Given the description of an element on the screen output the (x, y) to click on. 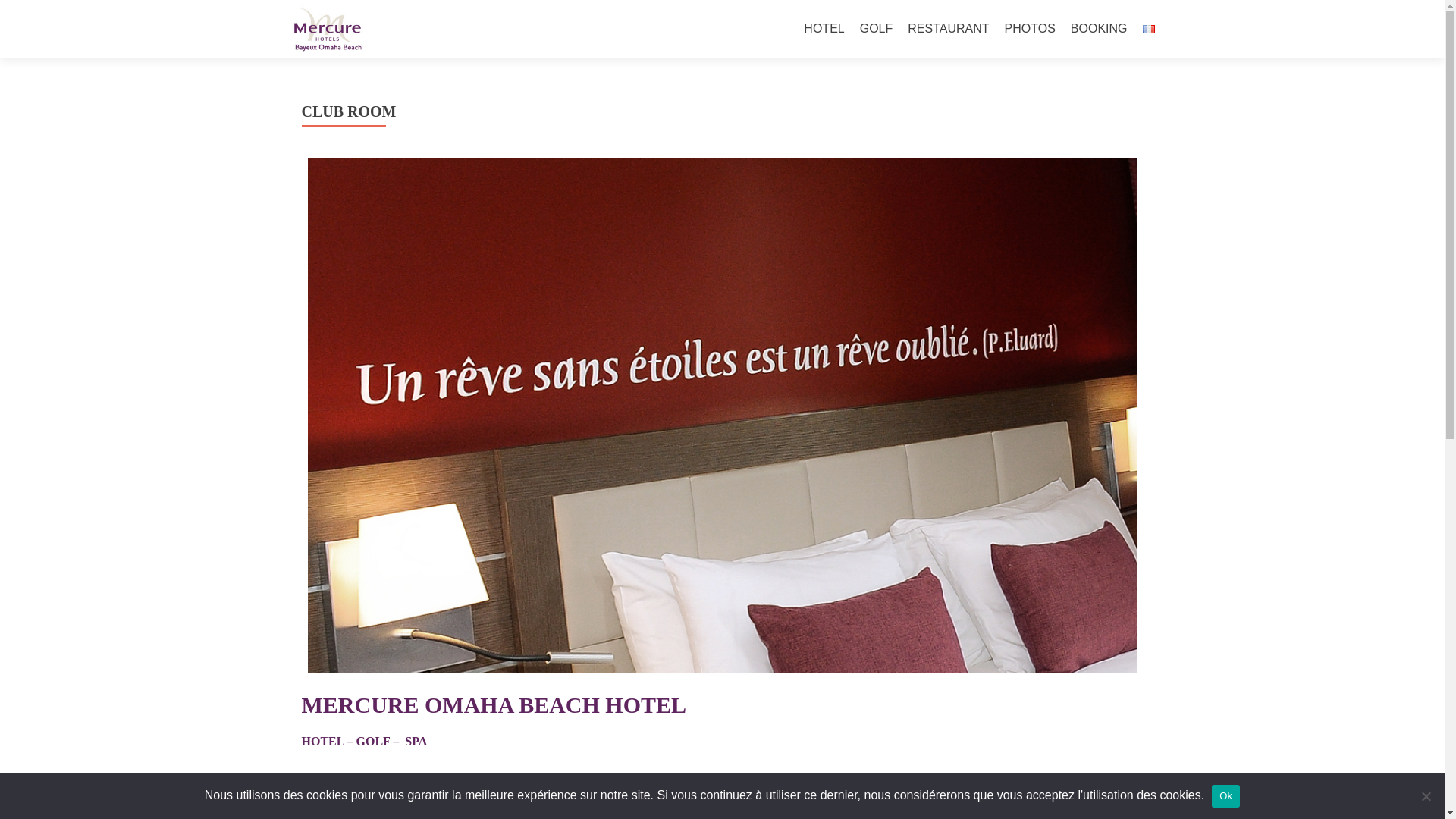
BOOKING (1098, 28)
Ok (1225, 794)
RESTAURANT (947, 28)
PHOTOS (1029, 28)
HOTEL (823, 28)
GOLF (876, 28)
